Given the description of an element on the screen output the (x, y) to click on. 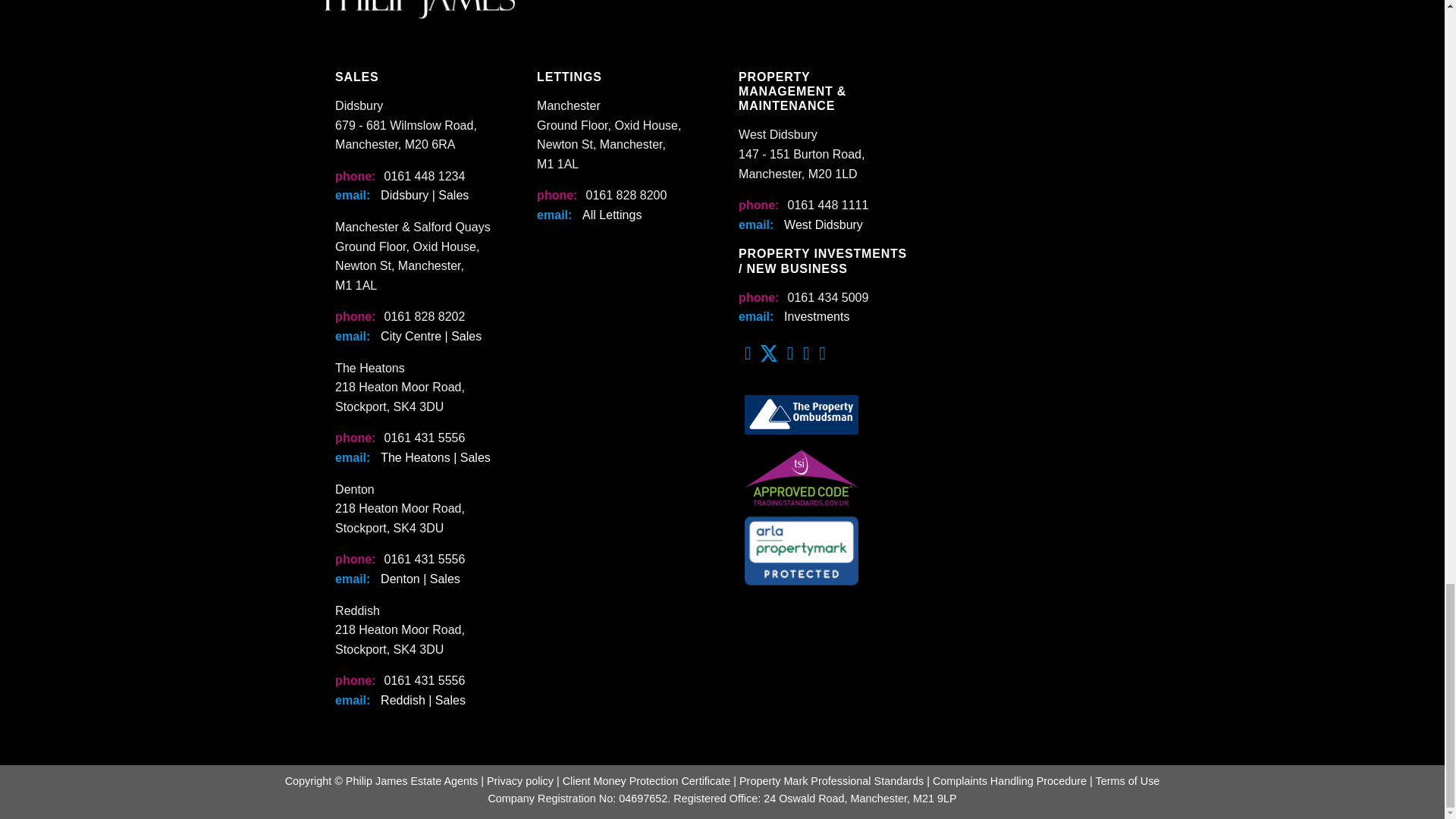
Client Money Protection Certificate (646, 780)
Investments (816, 316)
Complaints Handling Procedure (1009, 780)
Privacy policy (519, 780)
West Didsbury (823, 224)
All Lettings (612, 214)
